Given the description of an element on the screen output the (x, y) to click on. 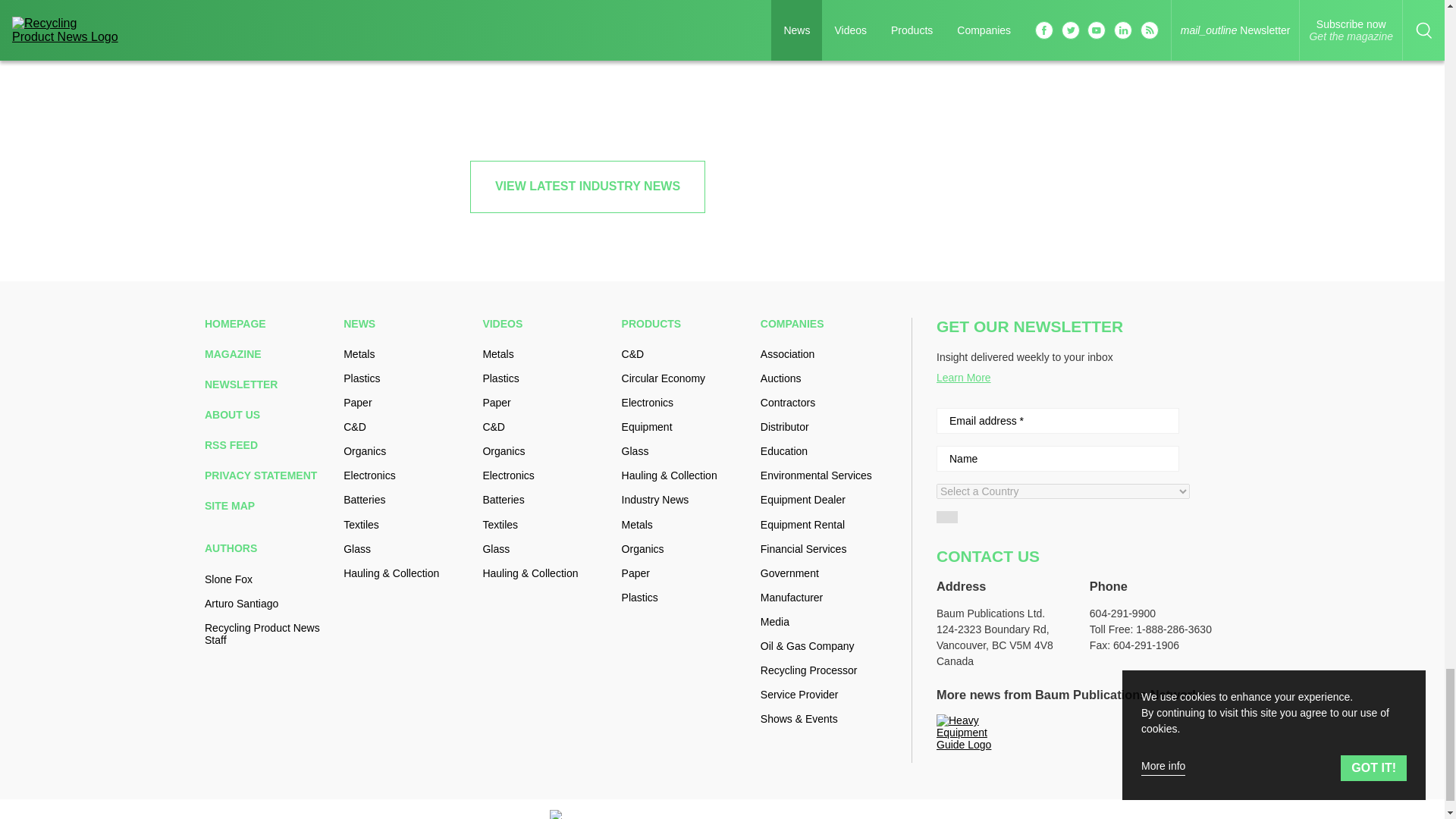
Slone Fox (268, 579)
RSS FEED (268, 444)
ABOUT US (268, 414)
VIEW LATEST INDUSTRY NEWS (587, 186)
NEWSLETTER (268, 384)
SITE MAP (268, 505)
MAGAZINE (268, 354)
PRIVACY STATEMENT (268, 475)
HOMEPAGE (268, 323)
